Given the description of an element on the screen output the (x, y) to click on. 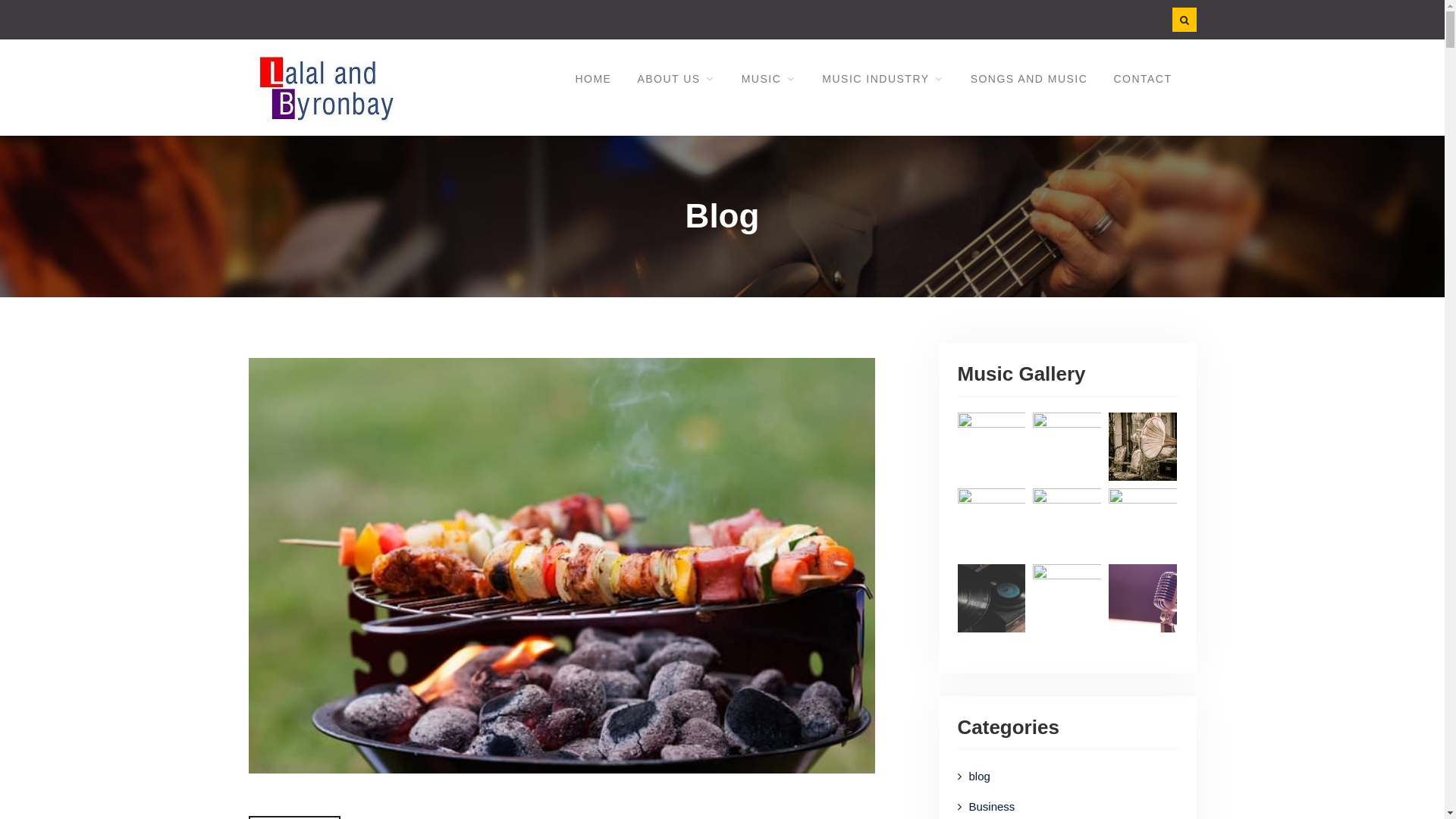
HOME Element type: text (593, 79)
SONGS AND MUSIC Element type: text (1029, 79)
blog Element type: text (1051, 776)
MUSIC Element type: text (768, 79)
CONTACT Element type: text (1142, 79)
Business Element type: text (1051, 806)
ABOUT US Element type: text (675, 79)
MUSIC INDUSTRY Element type: text (882, 79)
